Given the description of an element on the screen output the (x, y) to click on. 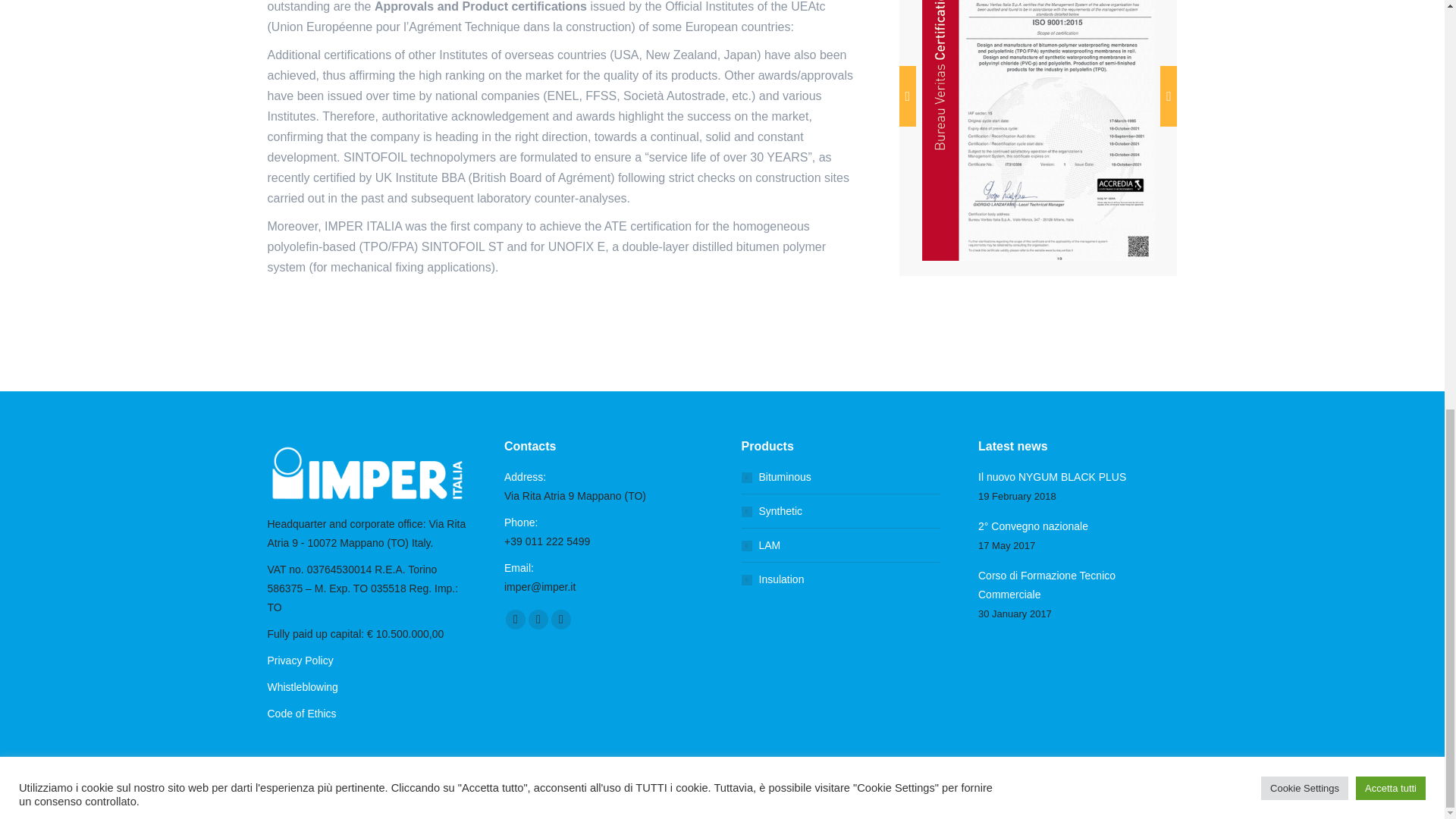
Facebook page opens in new window (515, 619)
YouTube page opens in new window (538, 619)
Linkedin page opens in new window (560, 619)
